Given the description of an element on the screen output the (x, y) to click on. 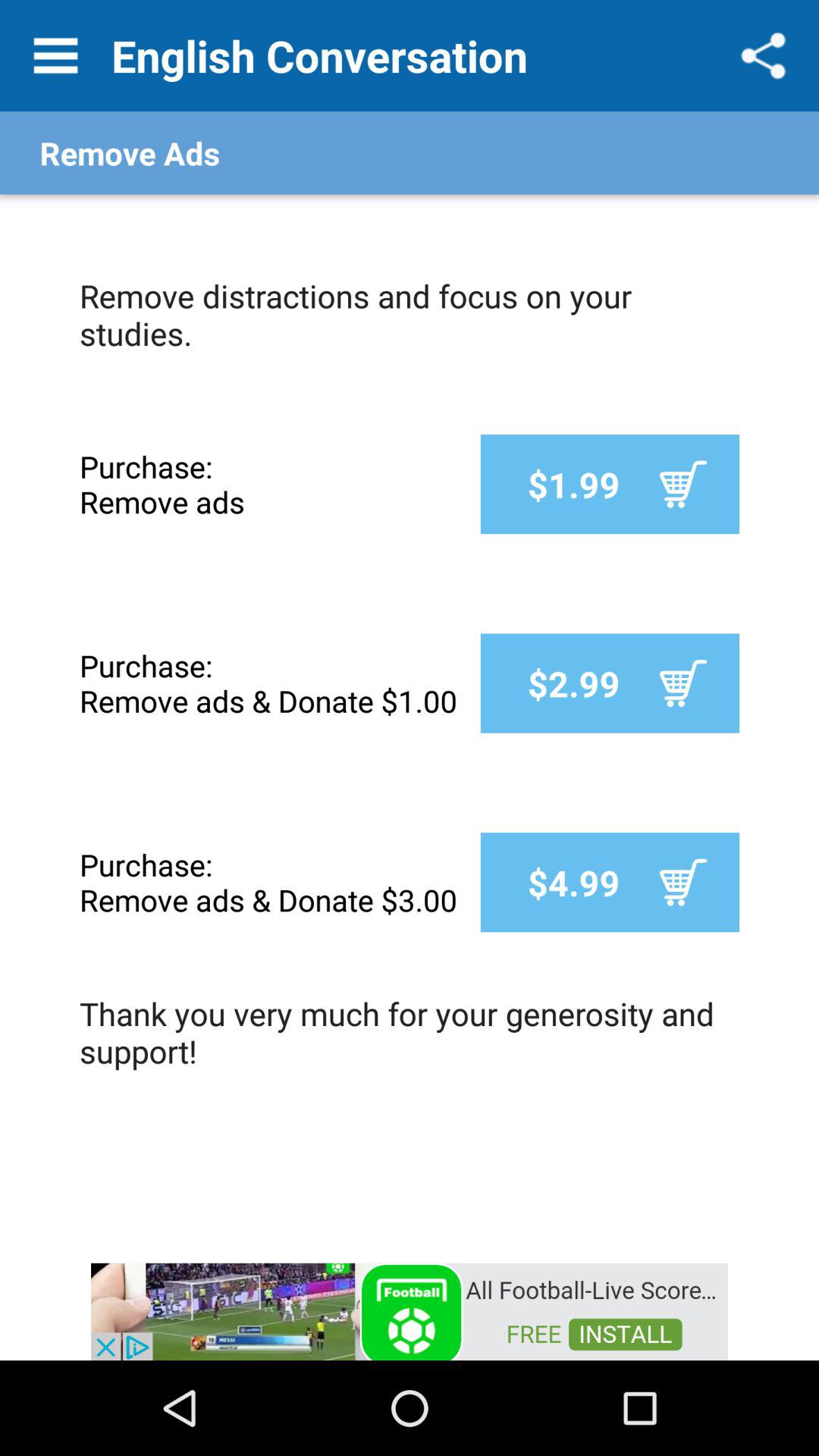
details about advertisement (409, 1310)
